Given the description of an element on the screen output the (x, y) to click on. 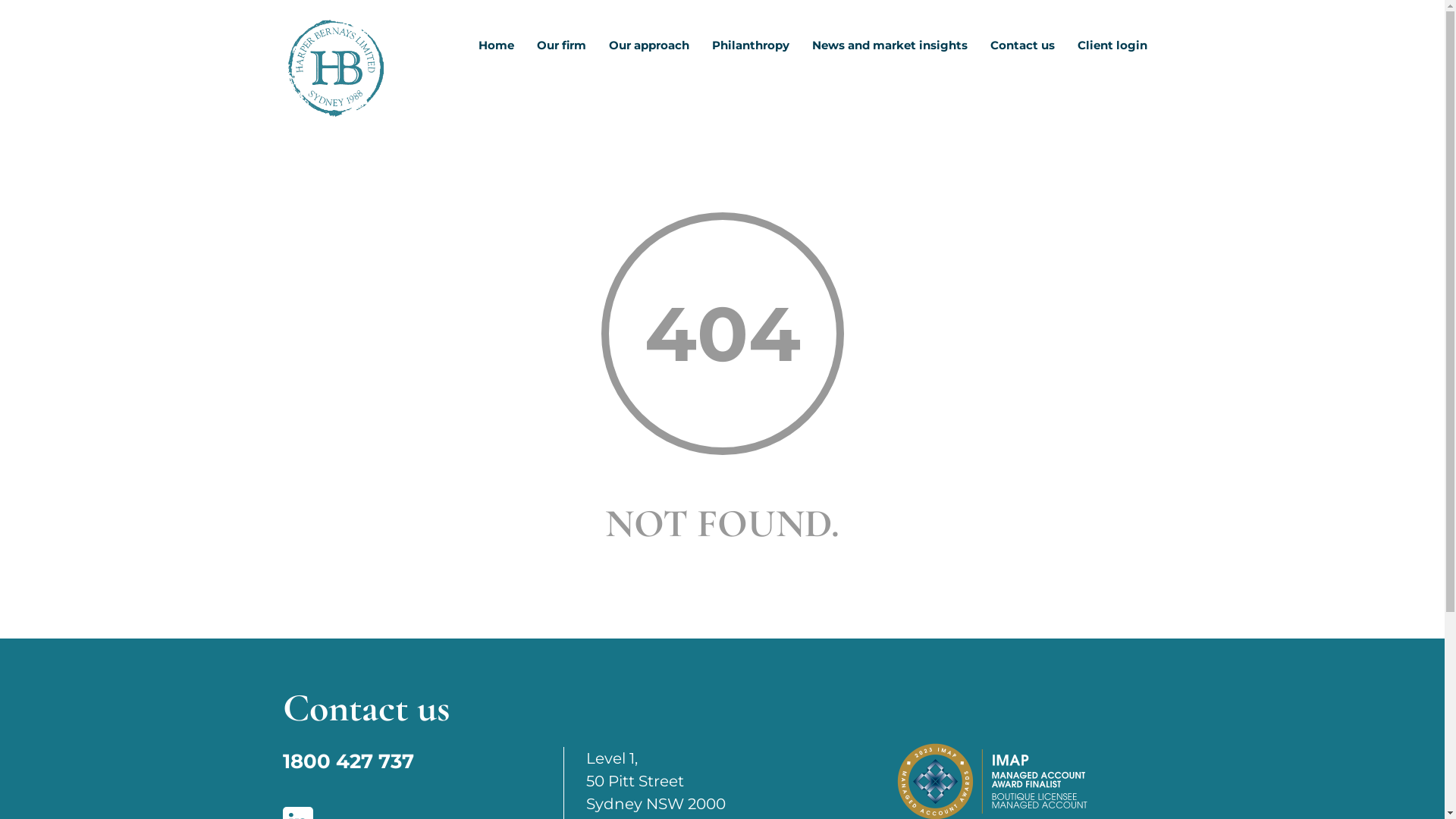
Philanthropy Element type: text (750, 49)
Client login Element type: text (1112, 49)
Our firm Element type: text (560, 49)
Home Element type: text (496, 49)
1800 427 737 Element type: text (347, 761)
Contact us Element type: text (1021, 49)
News and market insights Element type: text (889, 49)
Our approach Element type: text (648, 49)
